Given the description of an element on the screen output the (x, y) to click on. 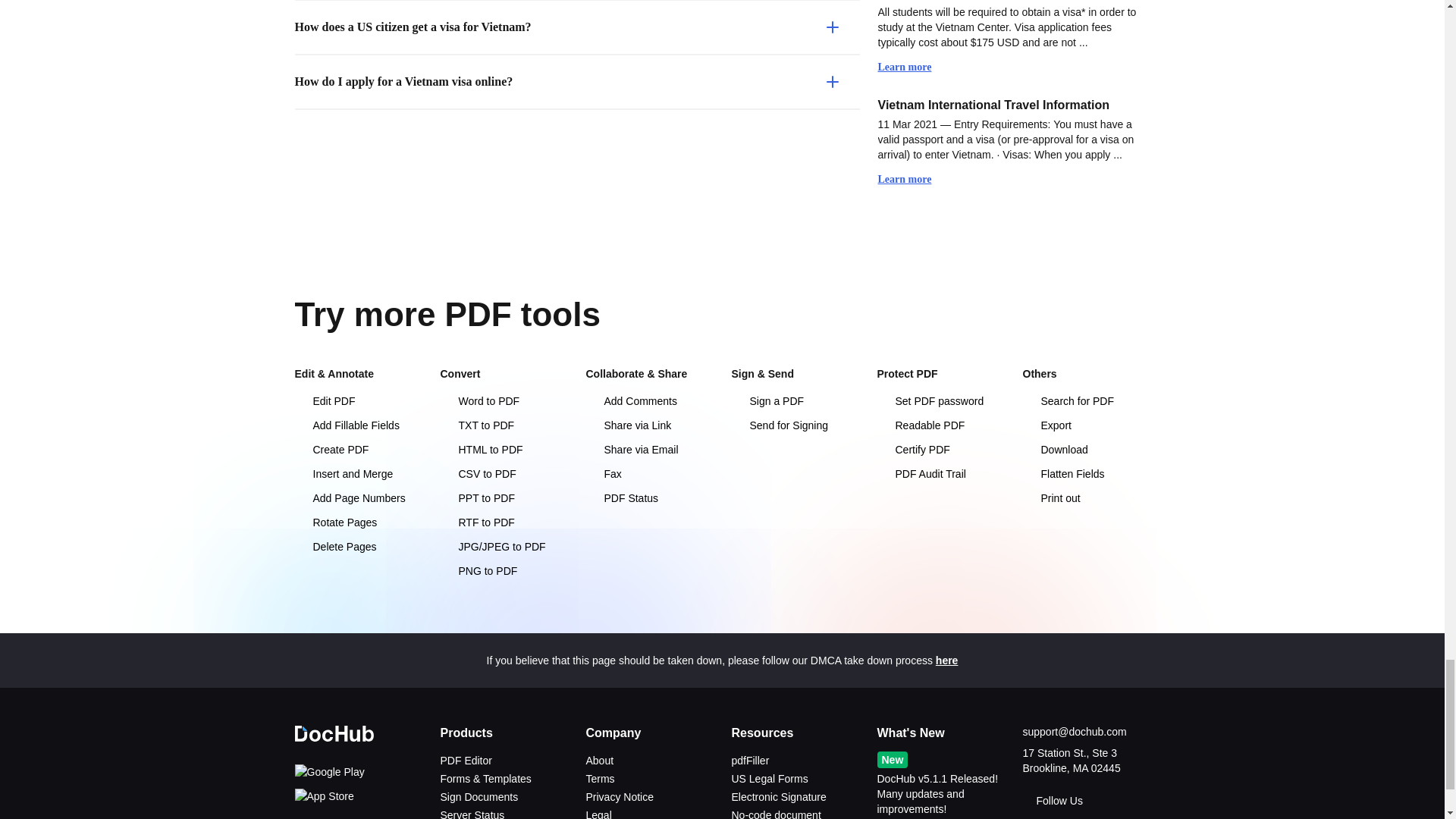
Create PDF (358, 449)
Rotate Pages (358, 522)
Add Page Numbers (358, 498)
Learn more (910, 67)
Insert and Merge (358, 473)
Edit PDF (358, 400)
Learn more (910, 179)
Add Fillable Fields (358, 425)
